Given the description of an element on the screen output the (x, y) to click on. 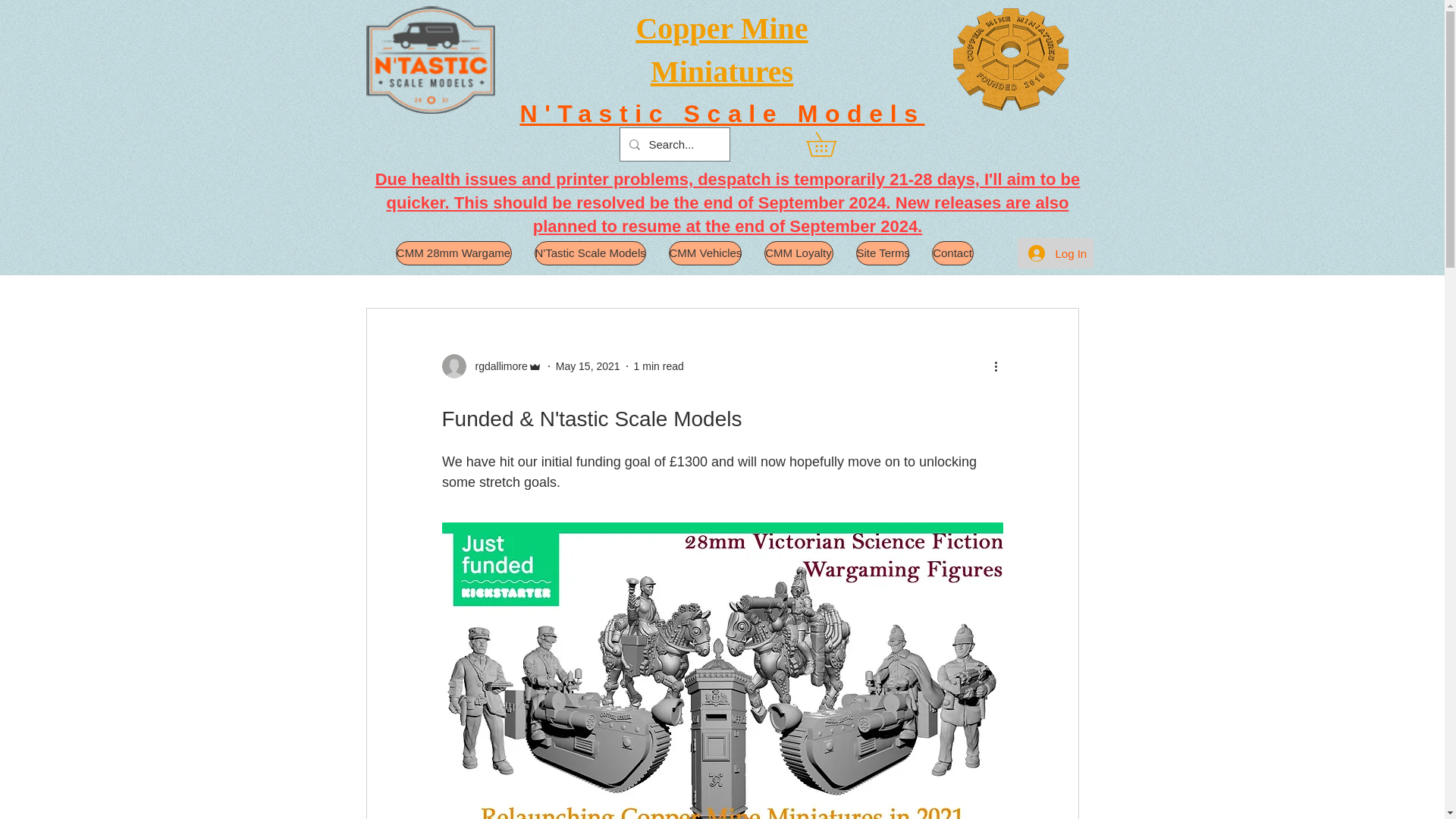
May 15, 2021 (588, 365)
CMM Loyalty (798, 252)
rgdallimore (496, 365)
N'Tastic Scale Models (721, 113)
1 min read (658, 365)
N'Tastic Scale Models (589, 252)
CMM Logo E1.jpg (1009, 59)
CMM Vehicles (704, 252)
CMM 28mm Wargame (454, 252)
Copper Mine Miniatures (721, 49)
